Given the description of an element on the screen output the (x, y) to click on. 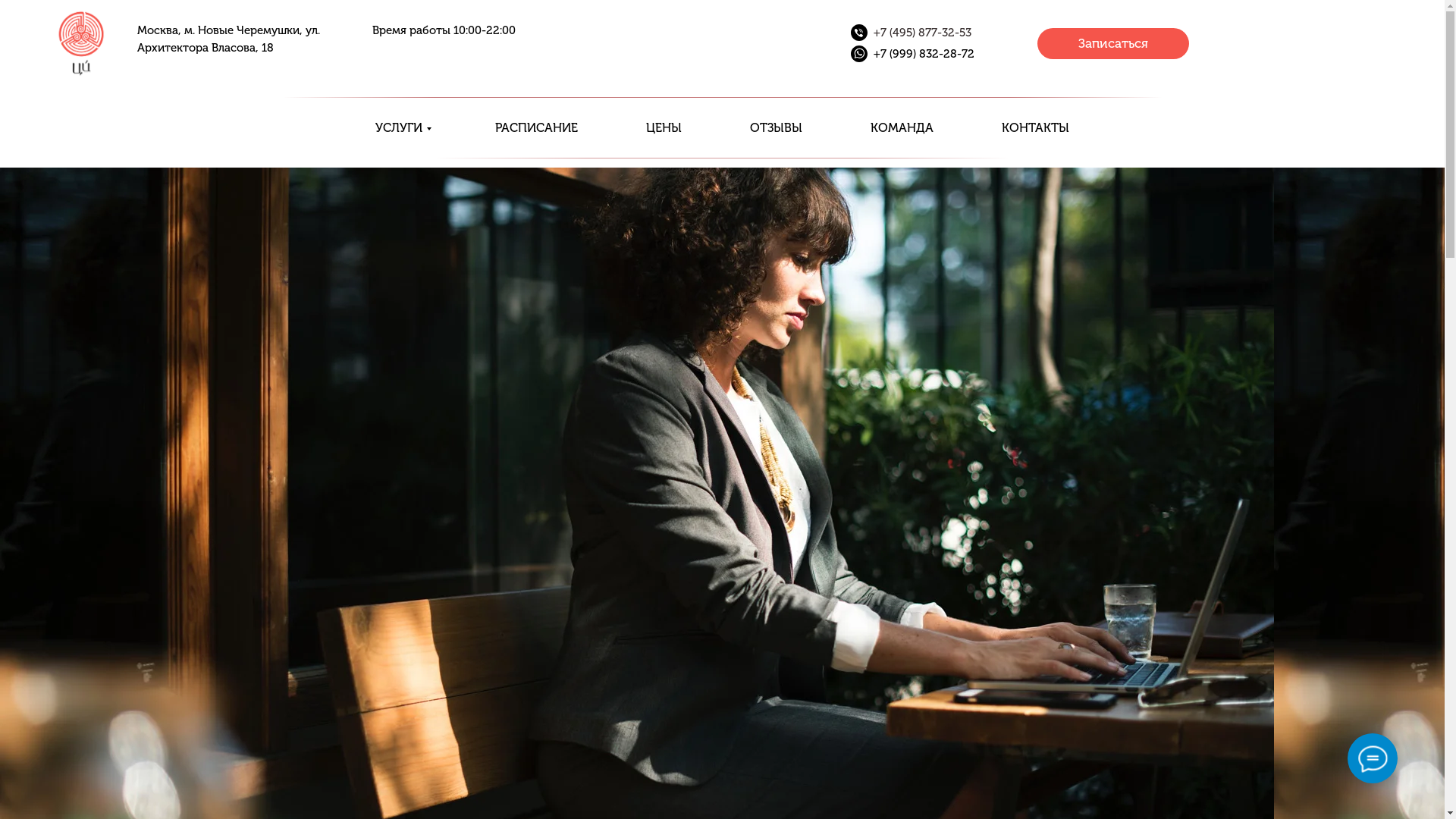
+7 (999) 832-28-72 Element type: text (923, 53)
+7 (495) 877-32-53 Element type: text (922, 32)
